Given the description of an element on the screen output the (x, y) to click on. 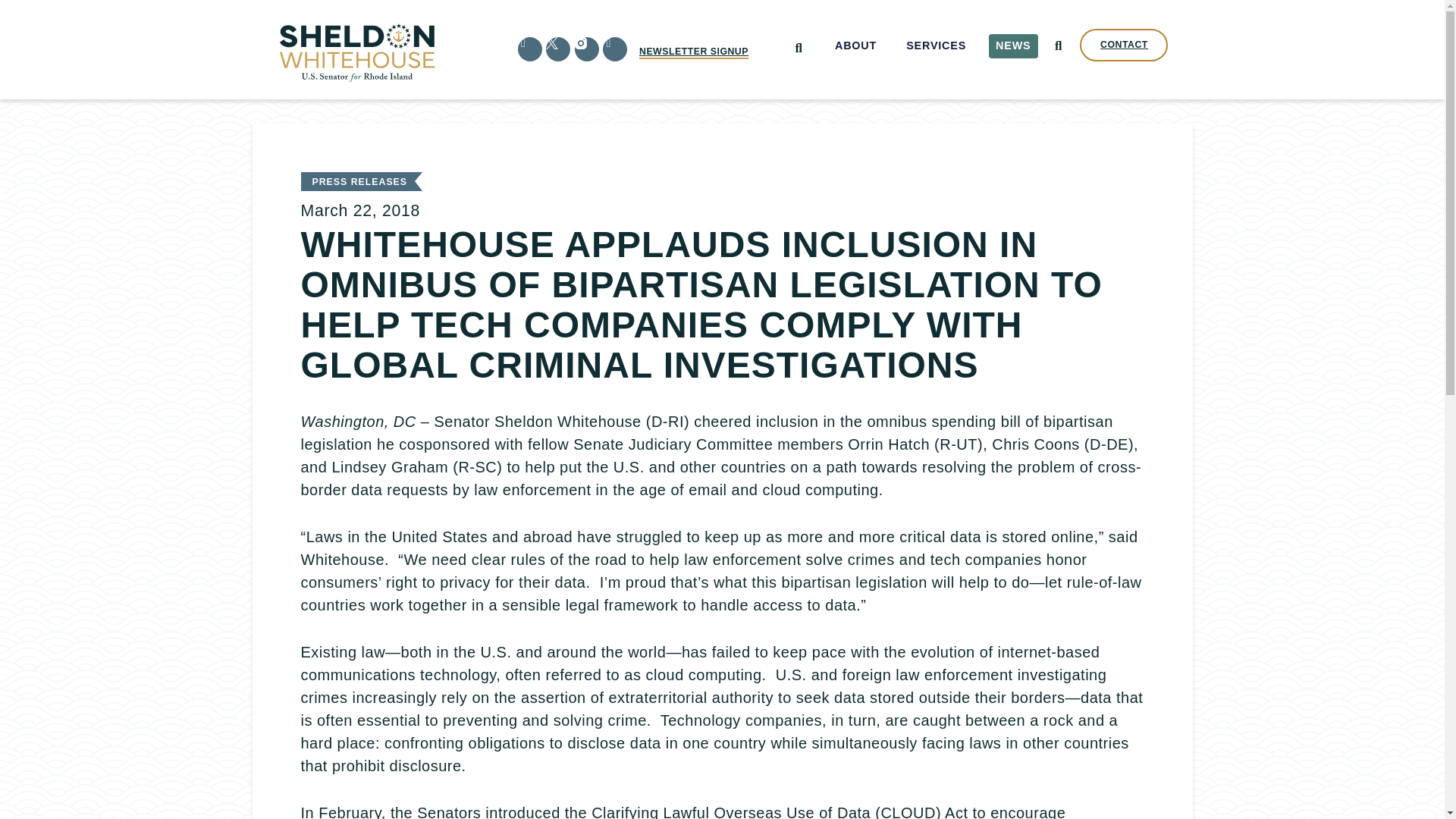
NEWSLETTER SIGNUP (693, 51)
CONTACT (1123, 44)
ABOUT (855, 46)
NEWS (1013, 46)
PRESS RELEASES (360, 181)
SERVICES (936, 46)
